Given the description of an element on the screen output the (x, y) to click on. 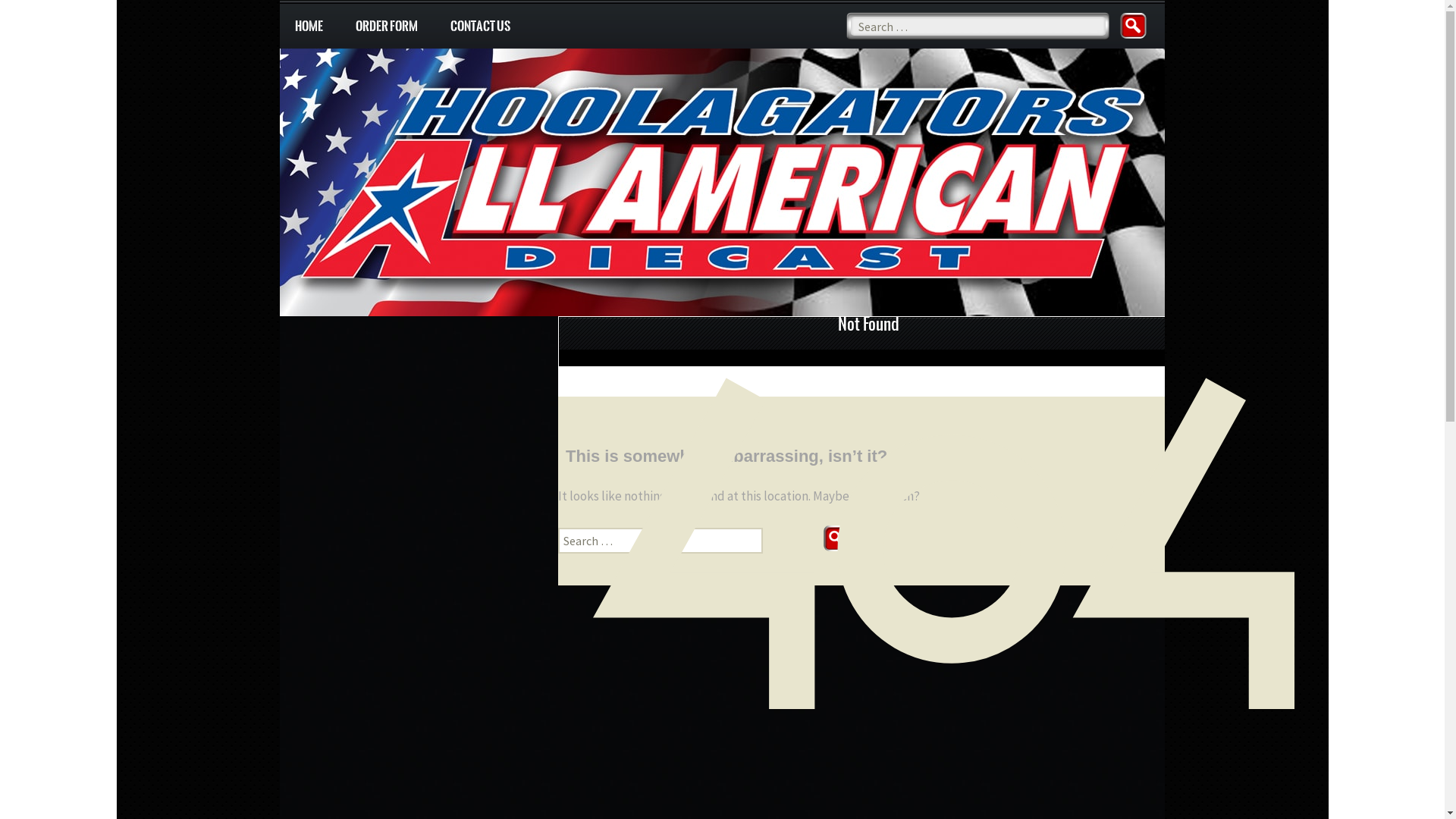
Home Element type: text (308, 26)
Hoolagators All American Diecast Element type: text (721, 135)
Search Element type: text (840, 539)
Contact Us Element type: text (480, 26)
Order Form Element type: text (386, 26)
Search Element type: text (1136, 26)
